Given the description of an element on the screen output the (x, y) to click on. 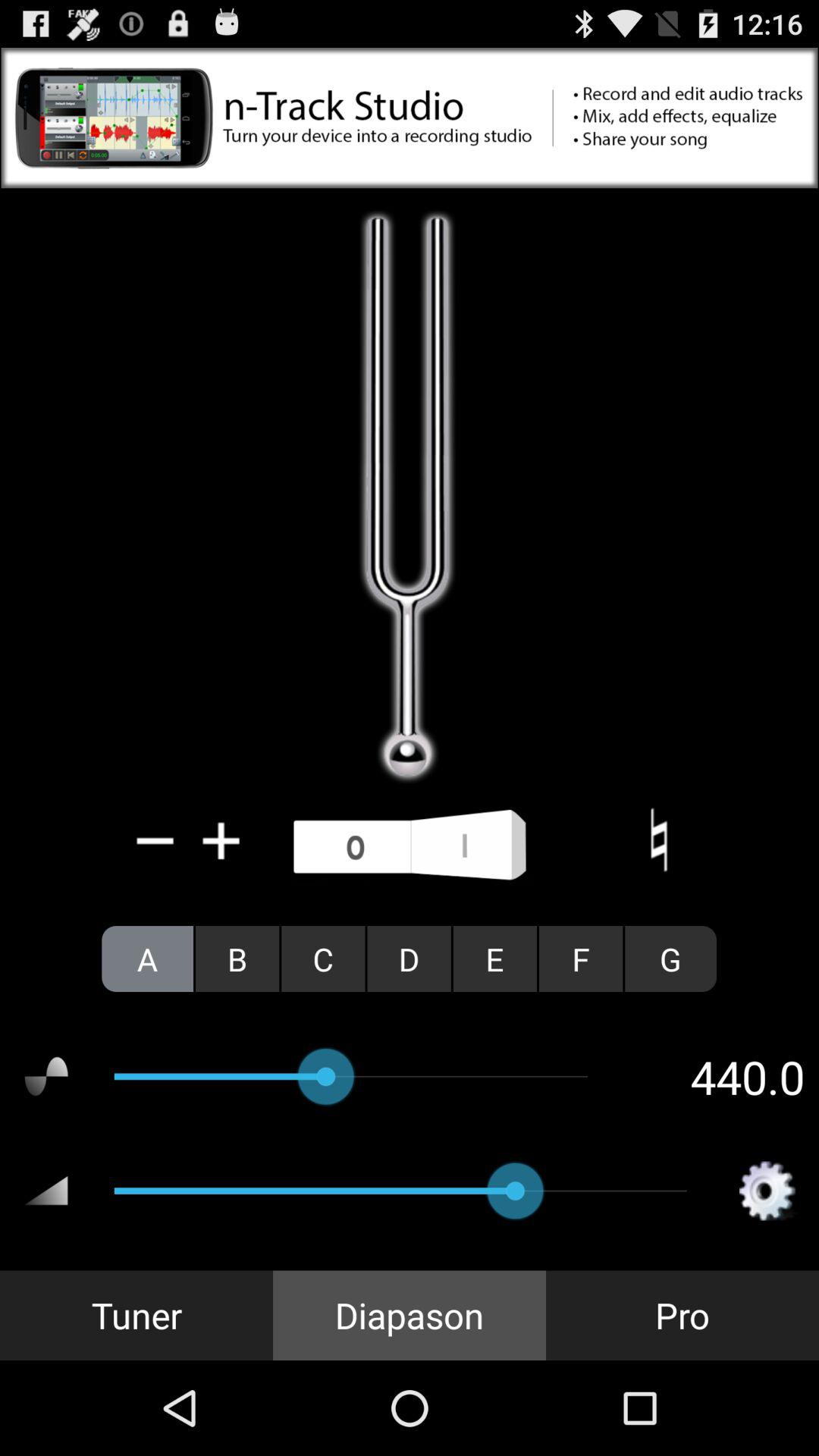
launch c (323, 958)
